Given the description of an element on the screen output the (x, y) to click on. 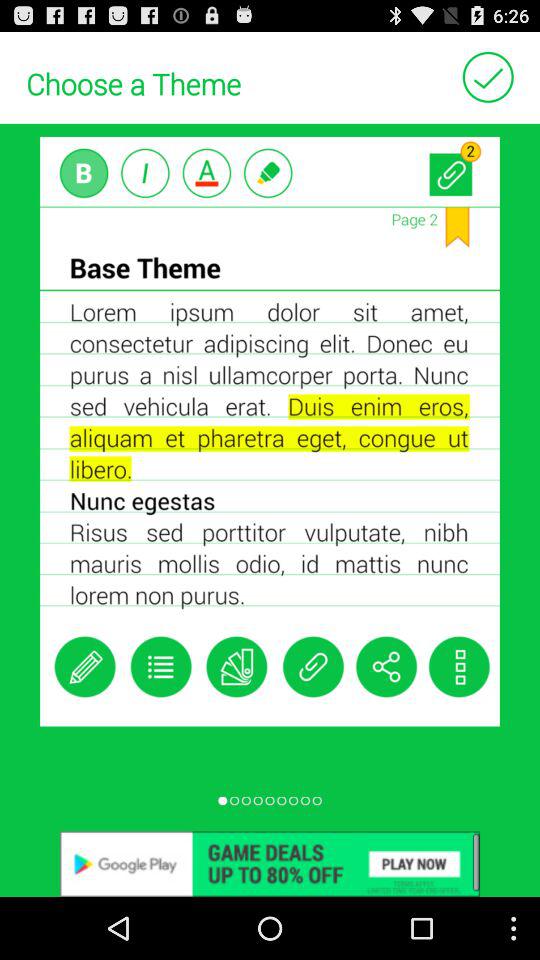
to select ok button (487, 76)
